Given the description of an element on the screen output the (x, y) to click on. 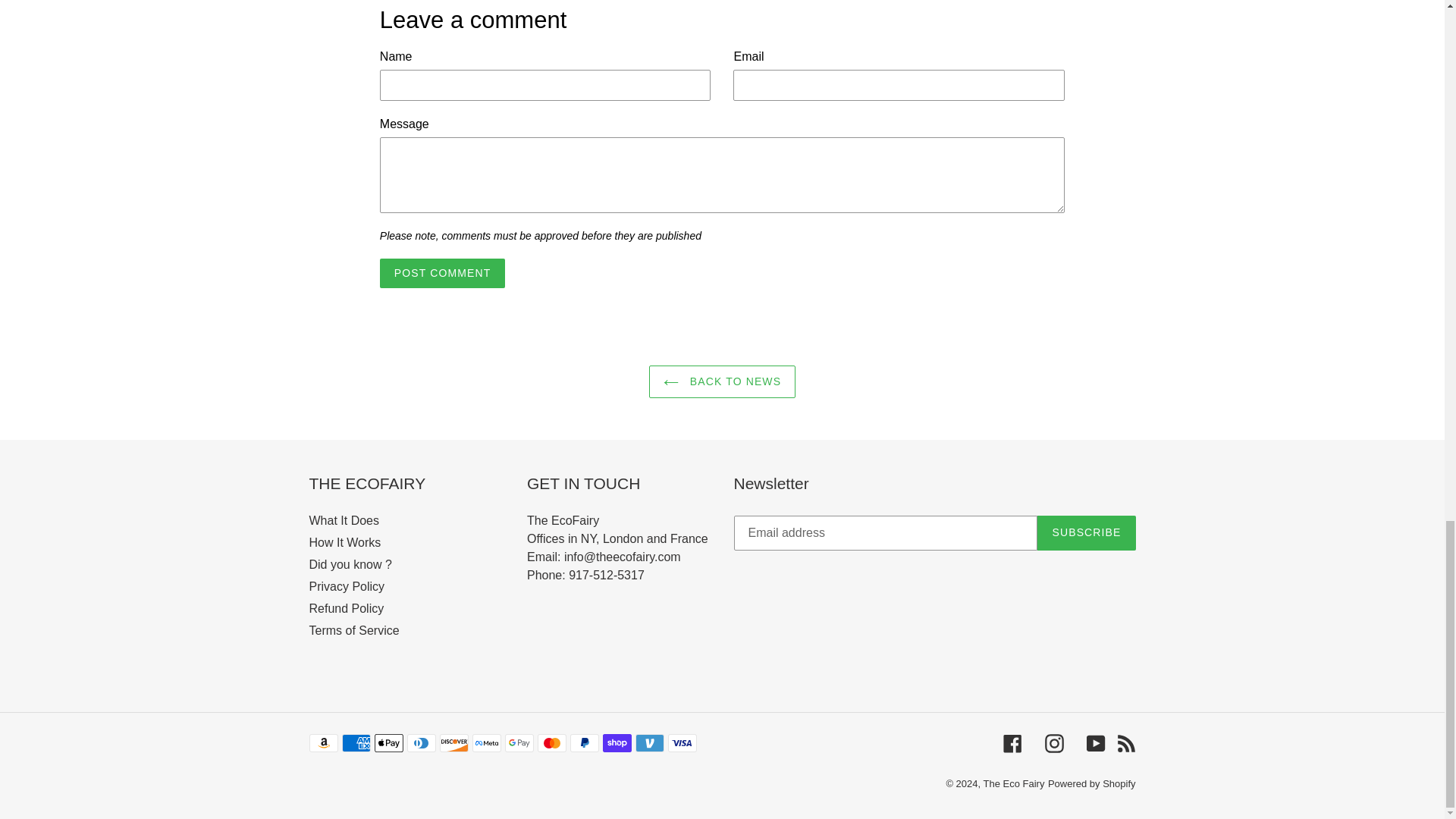
Post comment (442, 273)
Post comment (442, 273)
How It Works (344, 542)
BACK TO NEWS (721, 381)
Refund Policy (346, 608)
Did you know ? (349, 563)
Privacy Policy (346, 585)
What It Does (343, 520)
